Given the description of an element on the screen output the (x, y) to click on. 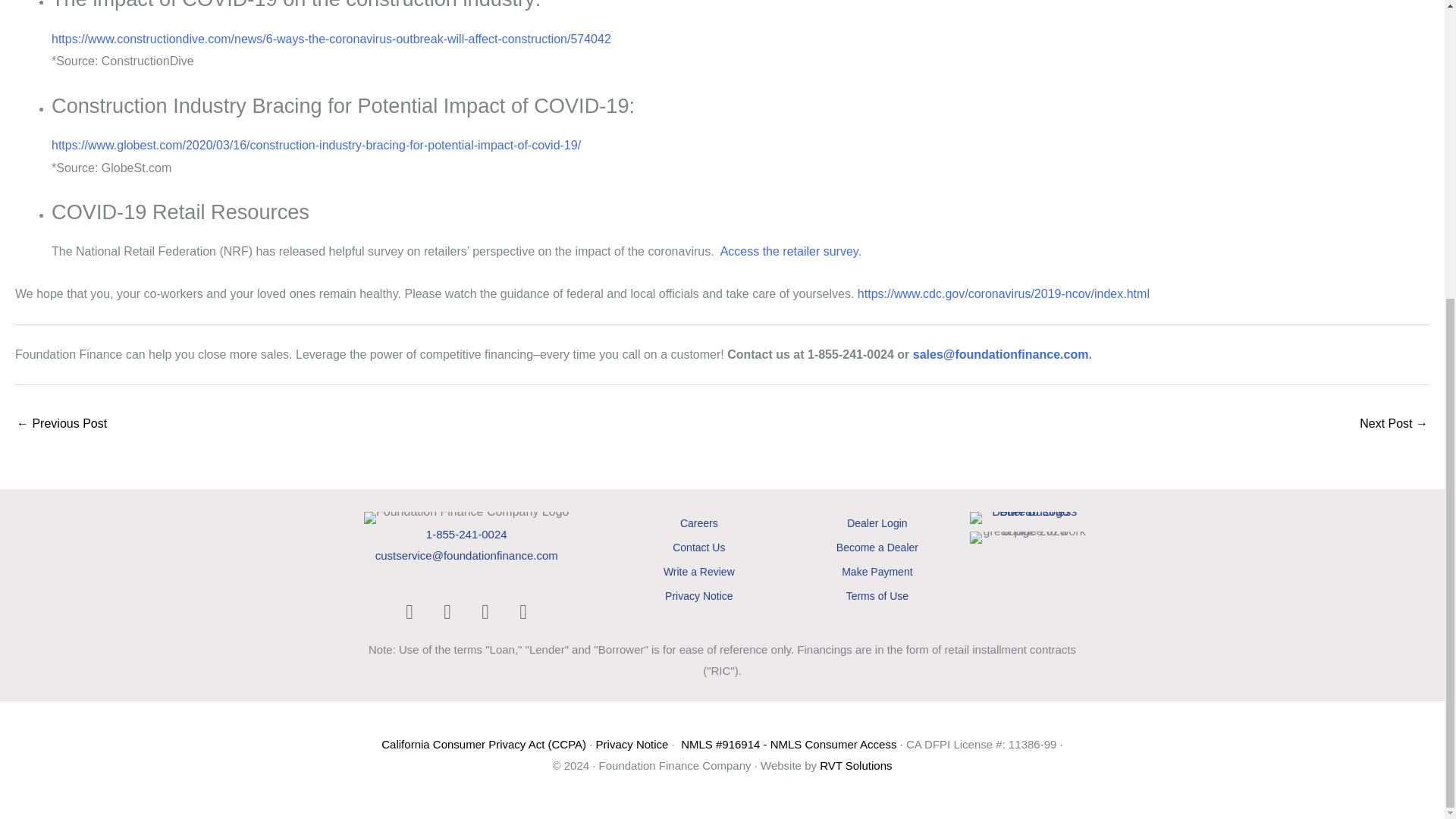
Foundation Finance Company Logo inline (466, 517)
RVT Solutions (855, 765)
great place to work badge 2023 (1027, 537)
Doing Business In A Challenging Economy (1393, 424)
Twitter (485, 612)
facebook (408, 612)
Youtube (523, 612)
Linkedin (446, 612)
Better Business Bureau Logo in Gray (1027, 517)
Increase Spring Sales With 3 Simple Steps (61, 424)
